Given the description of an element on the screen output the (x, y) to click on. 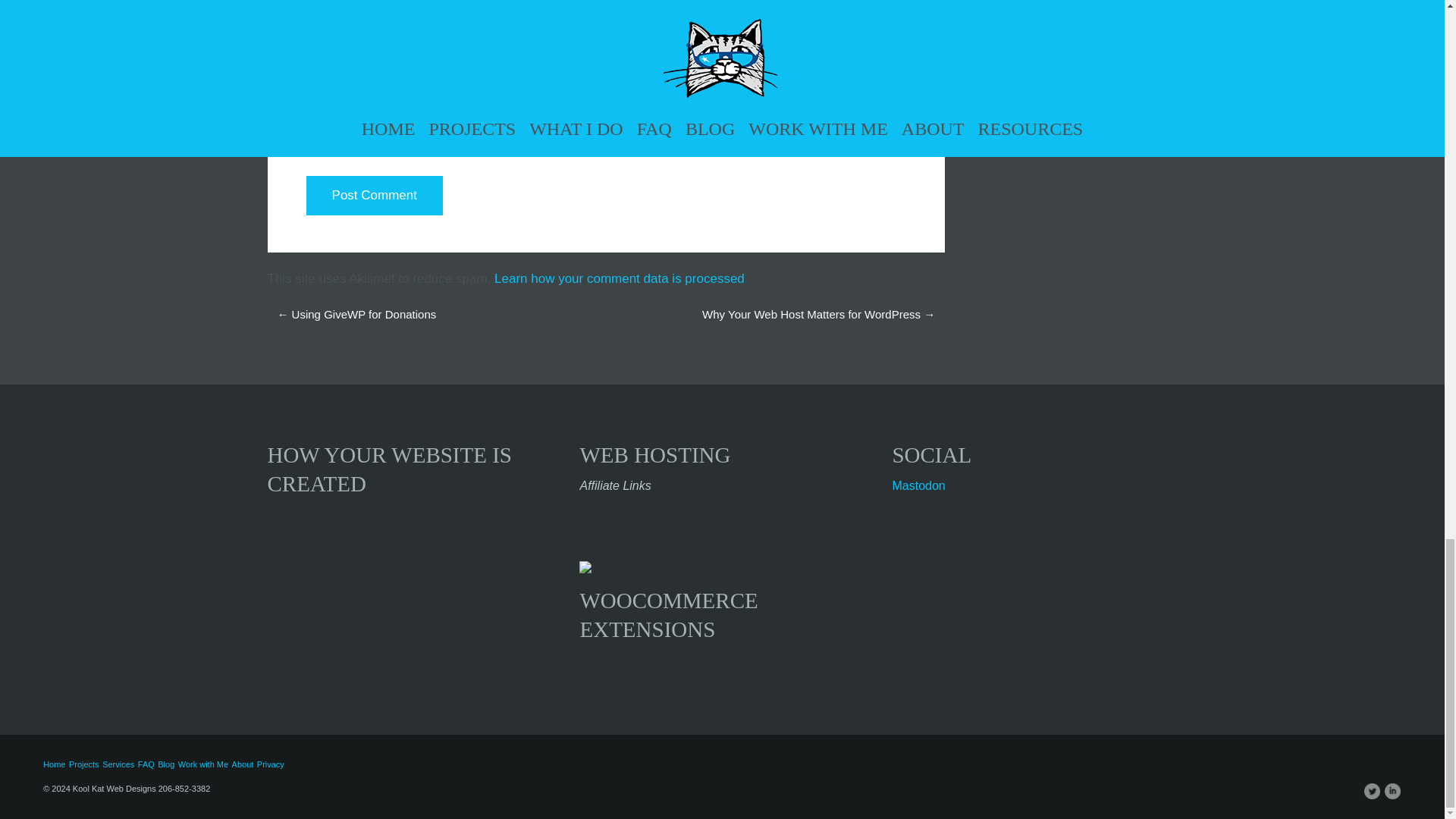
Linked In (1392, 791)
Blog (165, 764)
Why Your Web Host Matters for WordPress (817, 314)
Using GiveWP for Donations (355, 314)
Projects (83, 764)
Twitter (1372, 791)
Learn how your comment data is processed (619, 278)
Work with Me (202, 764)
Privacy (270, 764)
Services (117, 764)
